Given the description of an element on the screen output the (x, y) to click on. 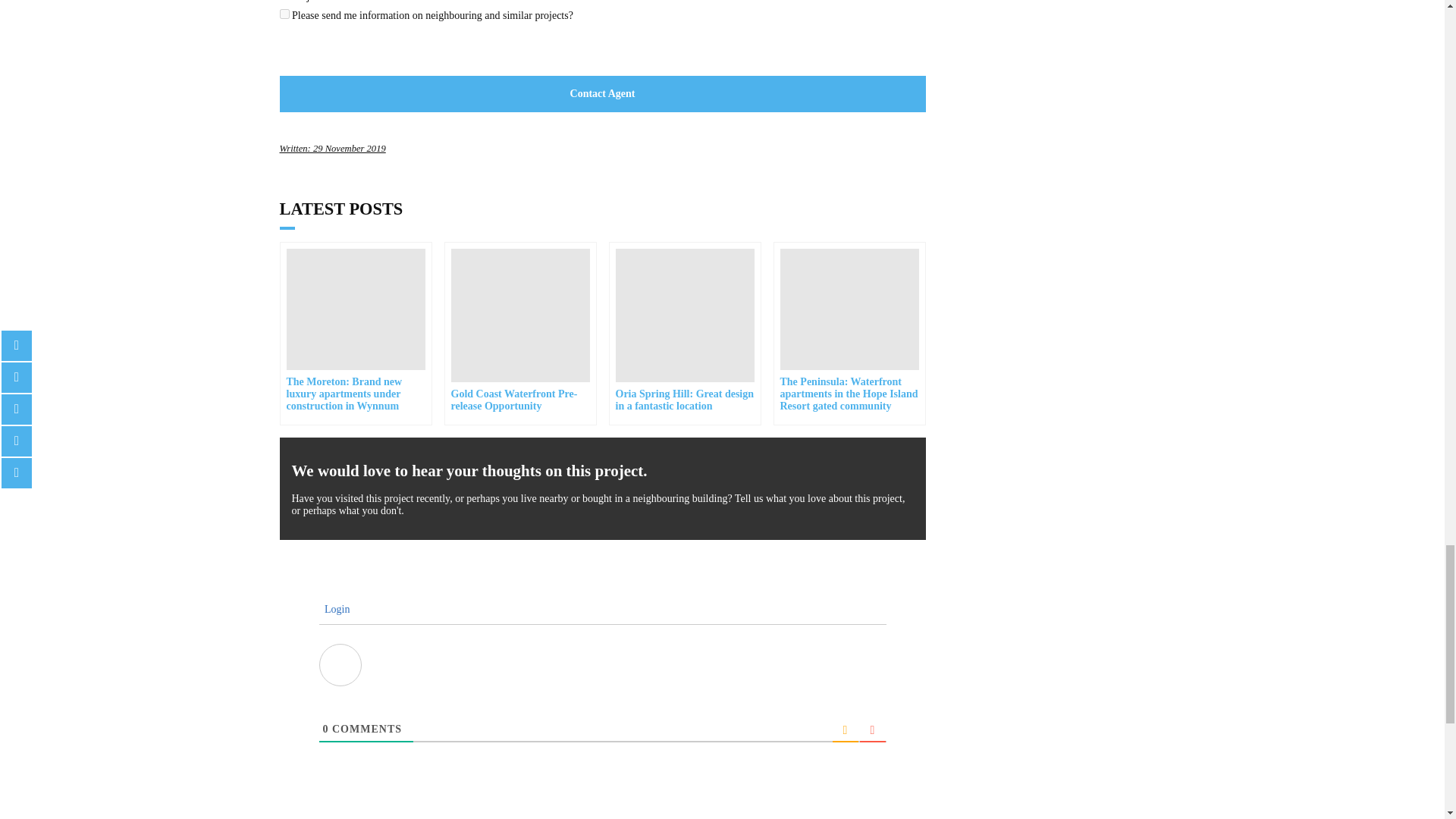
Contact Agent (601, 94)
Login (334, 609)
Contact Agent (601, 94)
